Given the description of an element on the screen output the (x, y) to click on. 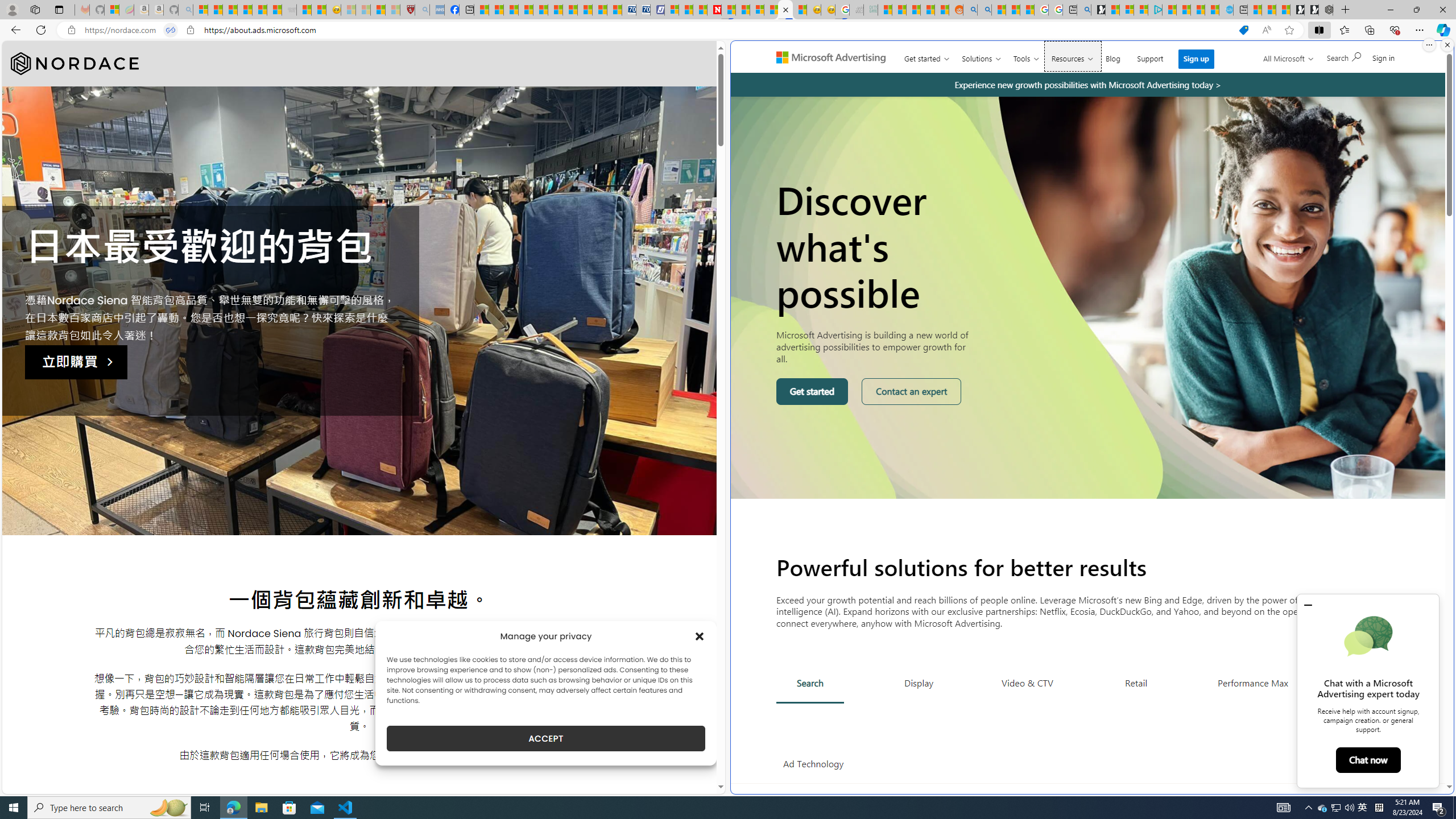
Blog (1112, 56)
Performance Max (1252, 682)
Cheap Hotels - Save70.com (643, 9)
